Given the description of an element on the screen output the (x, y) to click on. 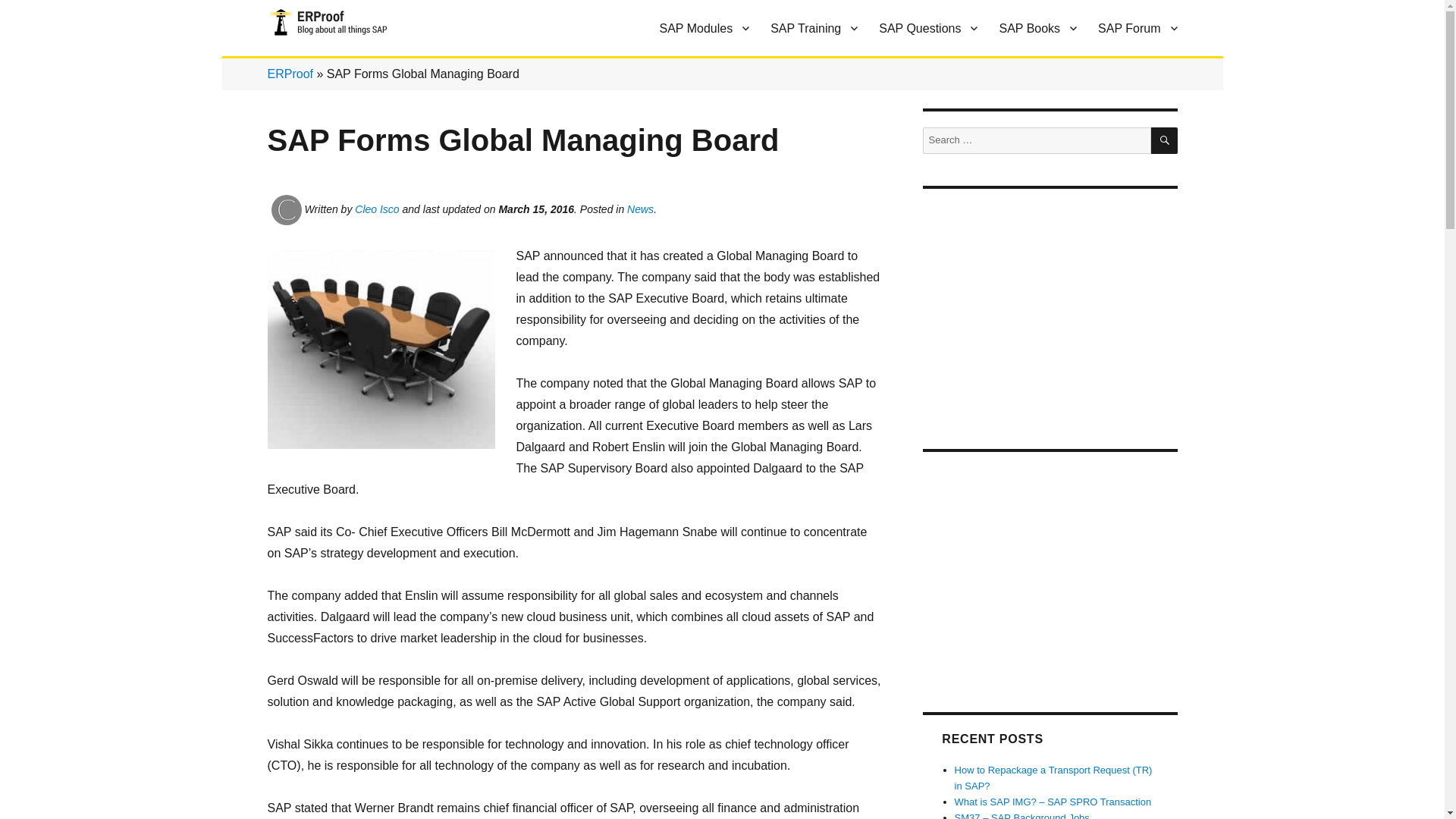
Advertisement (1048, 573)
SAP Questions (927, 28)
SAP Modules (703, 28)
ERProof (309, 60)
Advertisement (1048, 310)
SAP Training (813, 28)
